Given the description of an element on the screen output the (x, y) to click on. 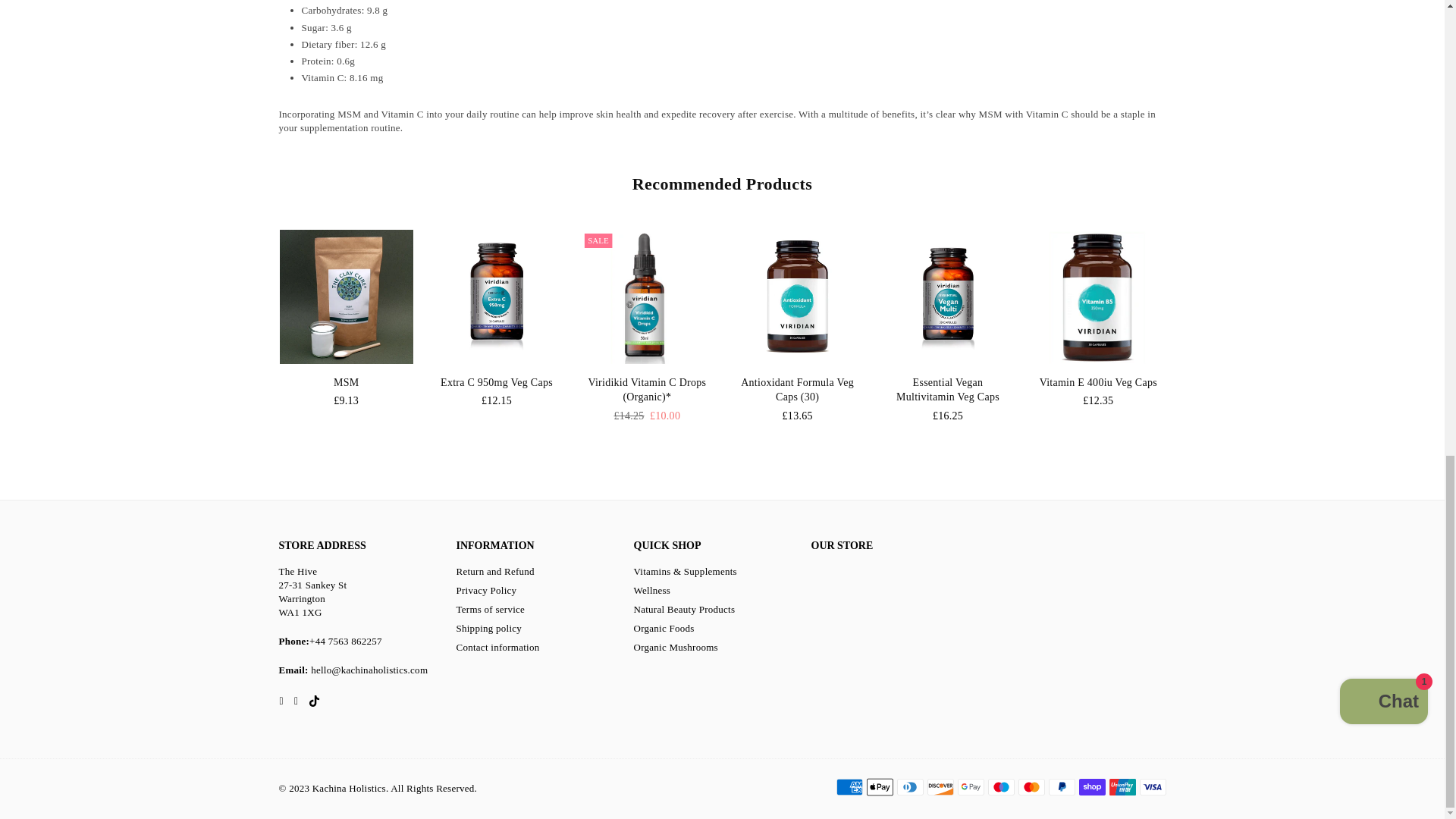
American Express (848, 787)
MSM (345, 296)
Google Pay (970, 787)
Diners Club (909, 787)
Mastercard (1030, 787)
Shop Pay (1091, 787)
Maestro (1000, 787)
Visa (1152, 787)
Apple Pay (879, 787)
Discover (939, 787)
Union Pay (1121, 787)
PayPal (1061, 787)
